Given the description of an element on the screen output the (x, y) to click on. 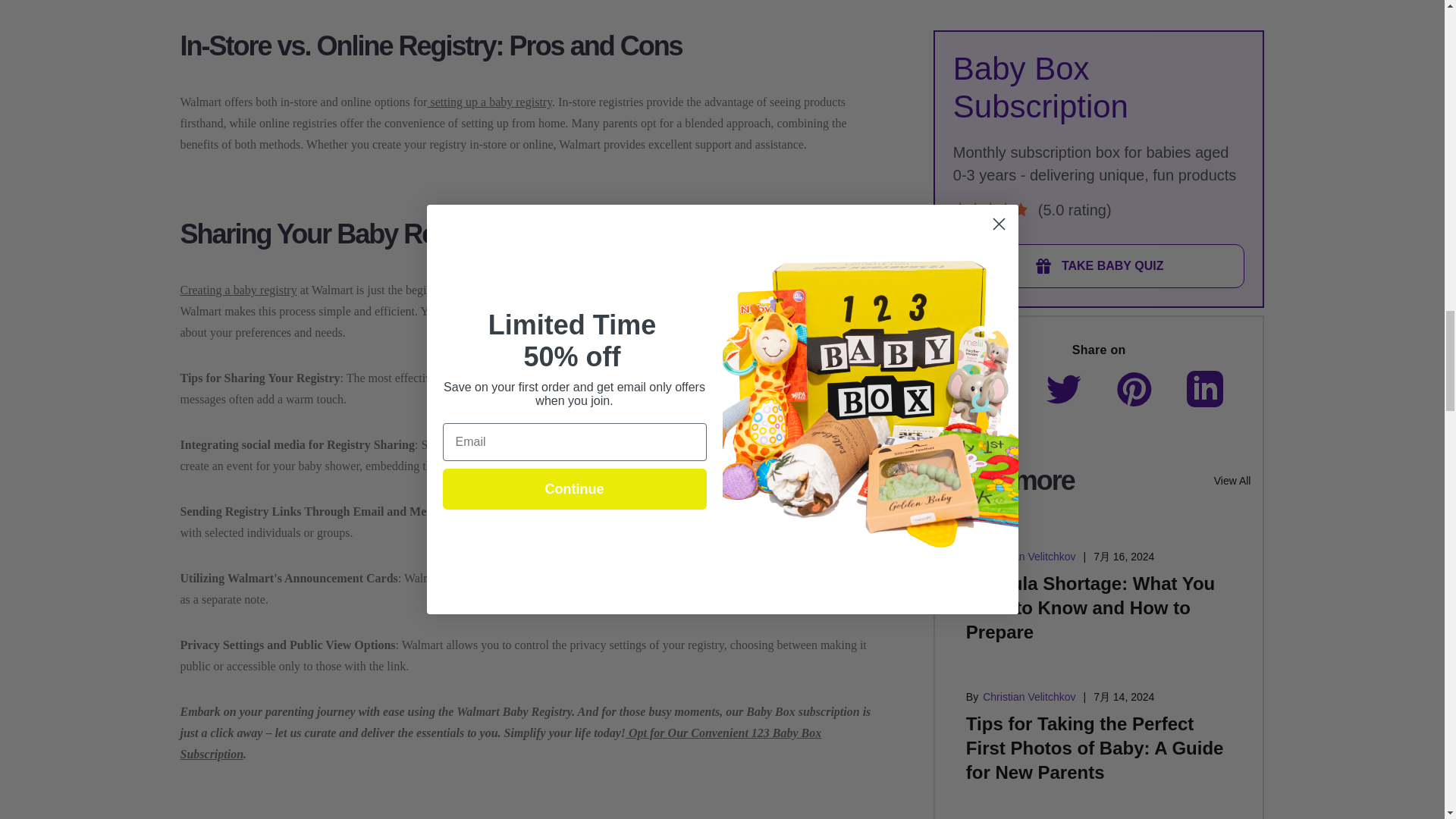
setting up a baby registry (488, 101)
Opt for Our Convenient 123 Baby Box Subscription (501, 743)
Creating a baby registry (238, 289)
